Given the description of an element on the screen output the (x, y) to click on. 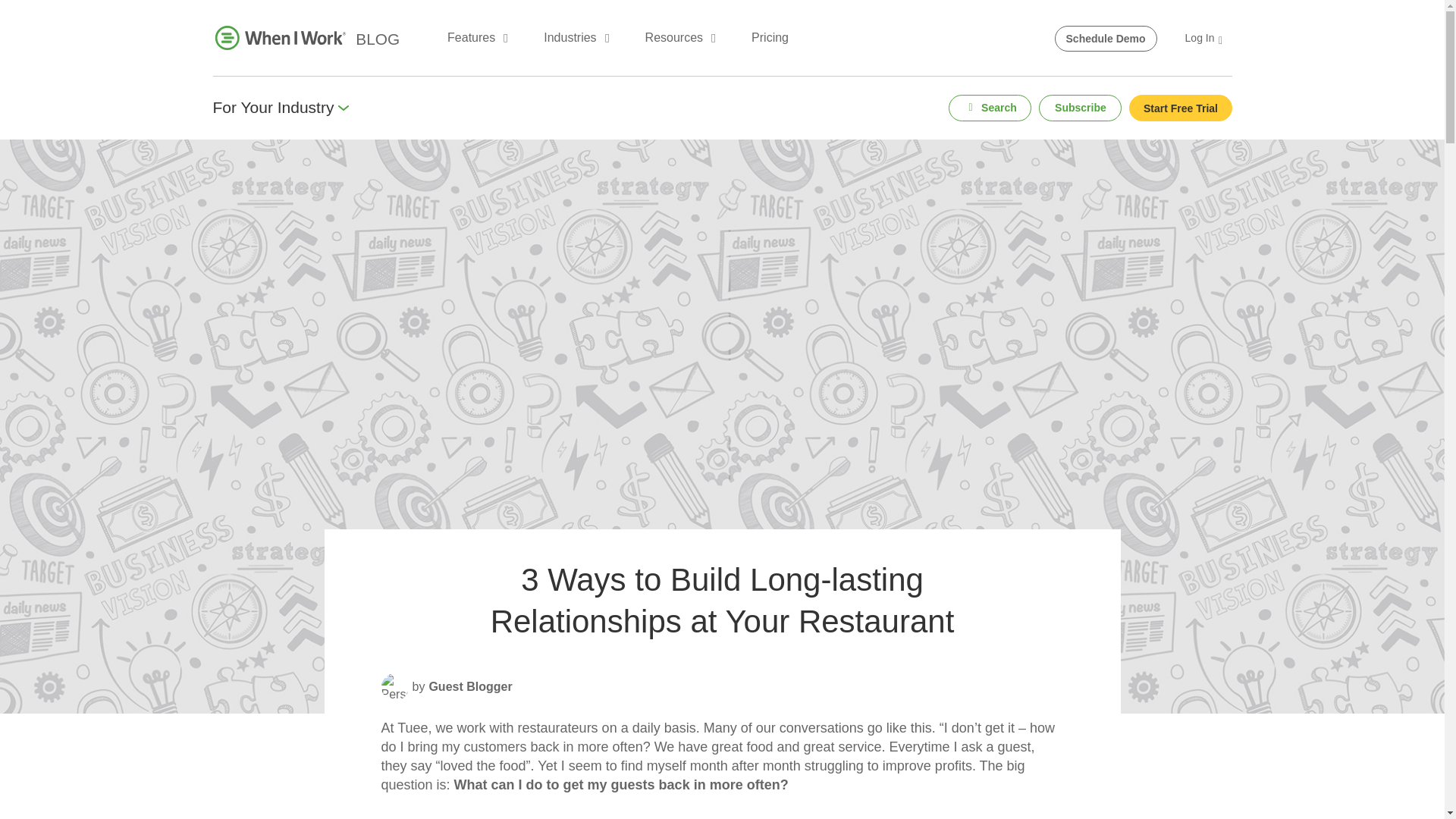
Industries (573, 37)
When I Work - Request a Demo (1105, 38)
When I Work - Pricing (770, 37)
When I Work - Blog Home (376, 37)
Enable Modal (1180, 108)
Features (474, 37)
Schedule Demo (1105, 38)
For Your Industry (281, 107)
BLOG (376, 37)
Pricing (770, 37)
Resources (677, 37)
Log In (1204, 37)
When I Work - Home (280, 37)
